Given the description of an element on the screen output the (x, y) to click on. 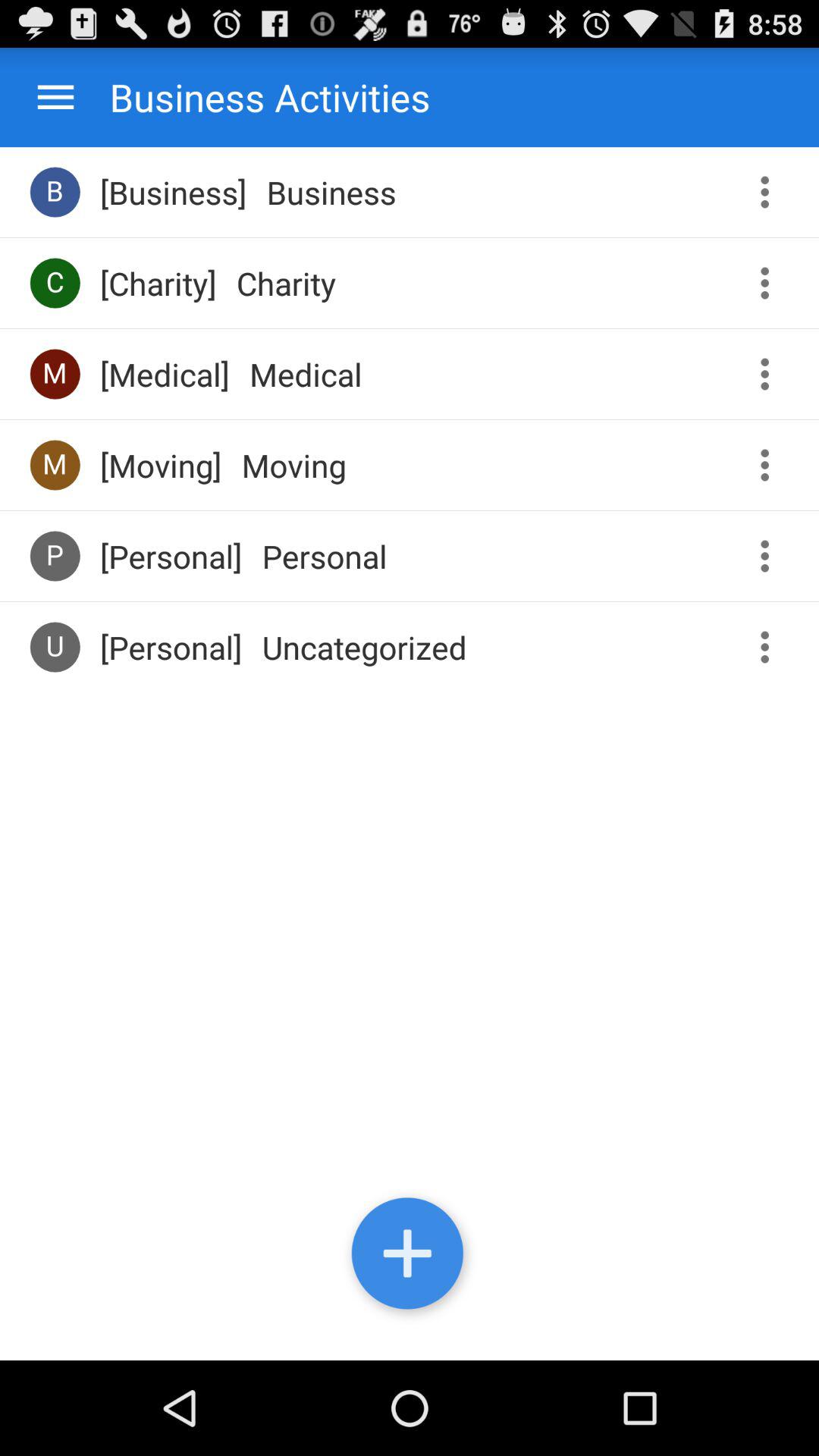
tap icon below p app (55, 646)
